Given the description of an element on the screen output the (x, y) to click on. 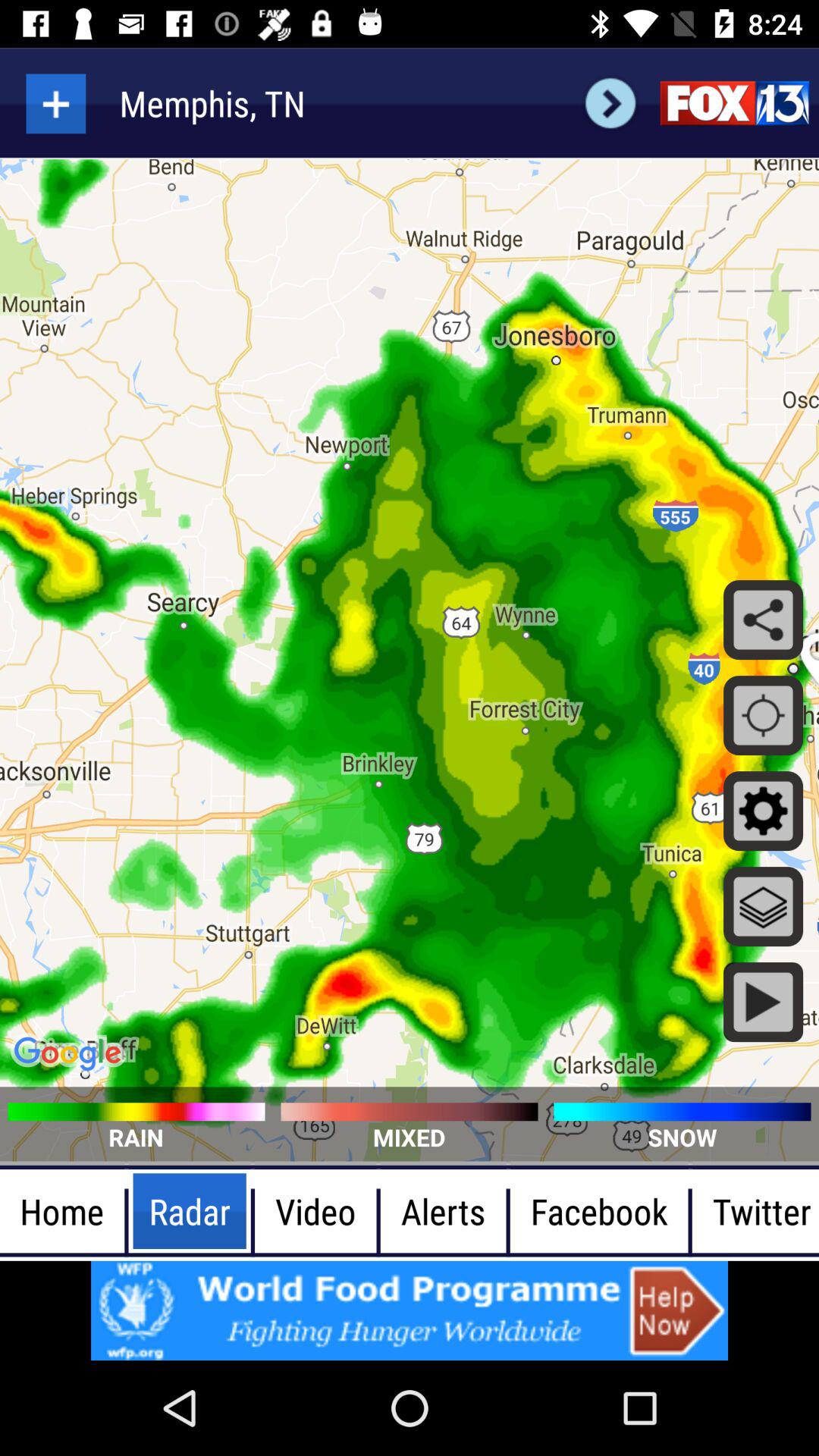
go to advert (409, 1310)
